Given the description of an element on the screen output the (x, y) to click on. 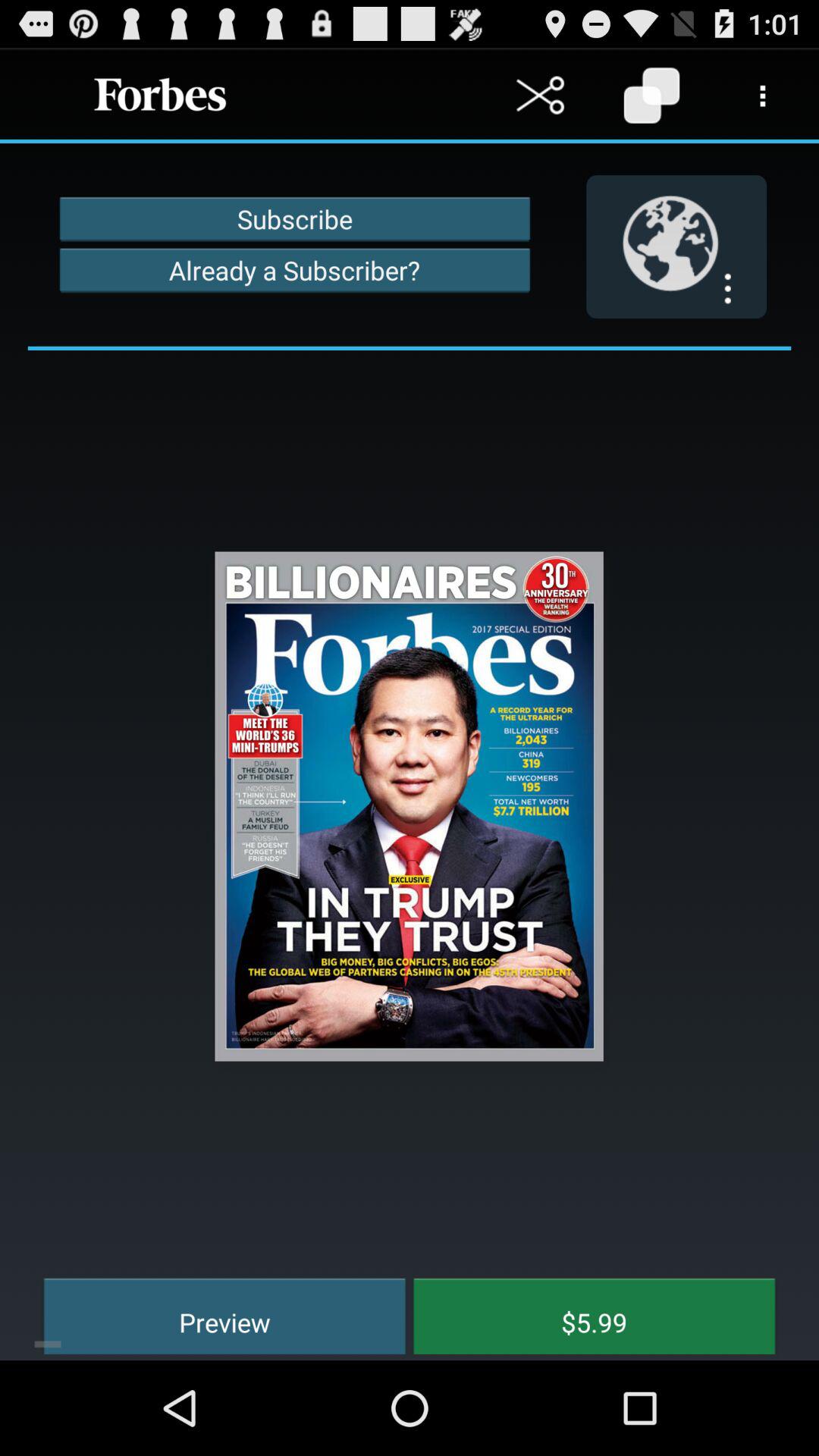
tap icon next to the subscribe (676, 246)
